Given the description of an element on the screen output the (x, y) to click on. 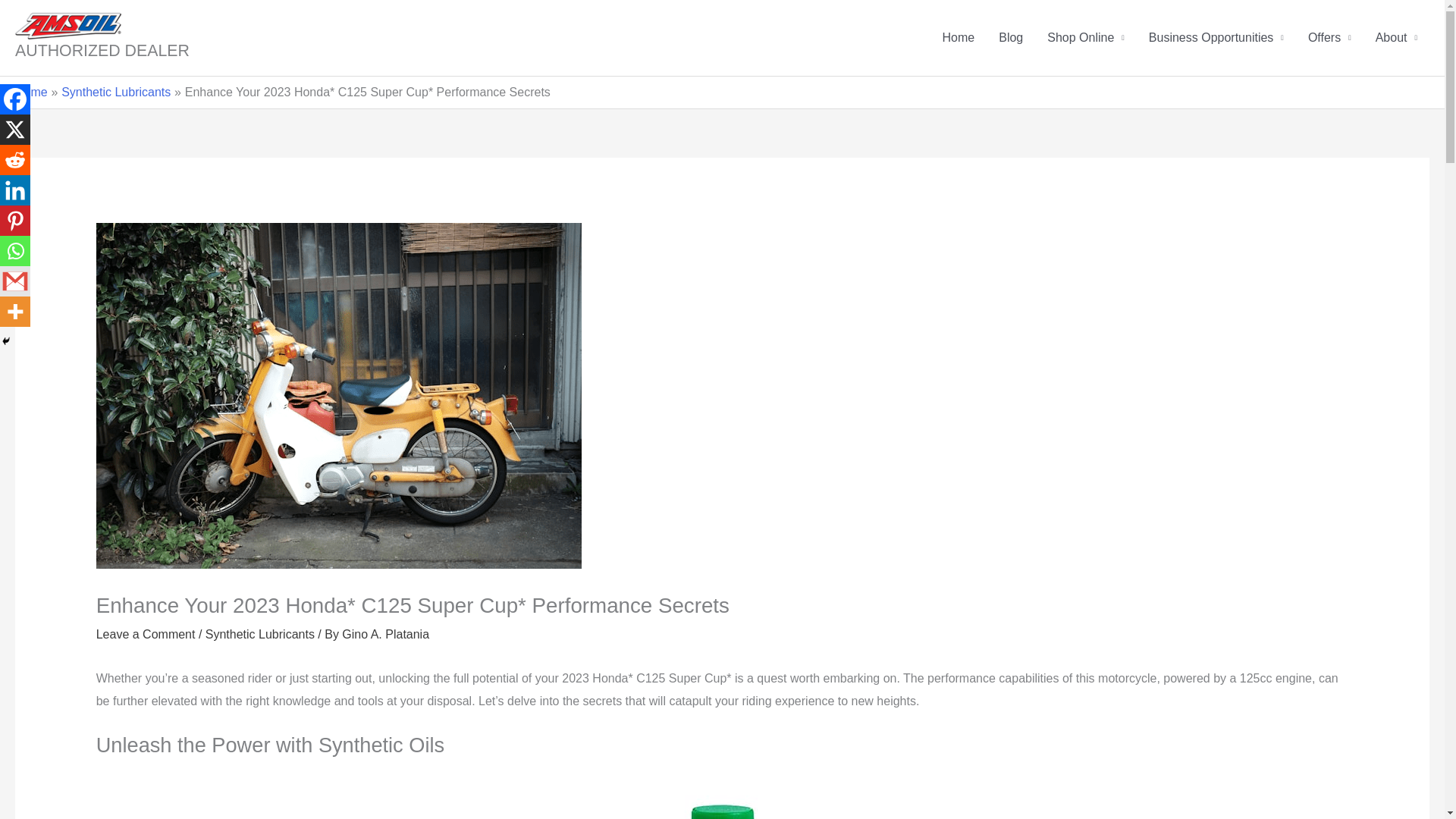
Facebook (15, 99)
Synthetic Lubricants (259, 634)
Linkedin (15, 190)
Business Opportunities (1216, 38)
View all posts by Gino A. Platania (385, 634)
Leave a Comment (145, 634)
Home (31, 91)
Reddit (15, 159)
Gino A. Platania (385, 634)
Shop Online (1086, 38)
